Given the description of an element on the screen output the (x, y) to click on. 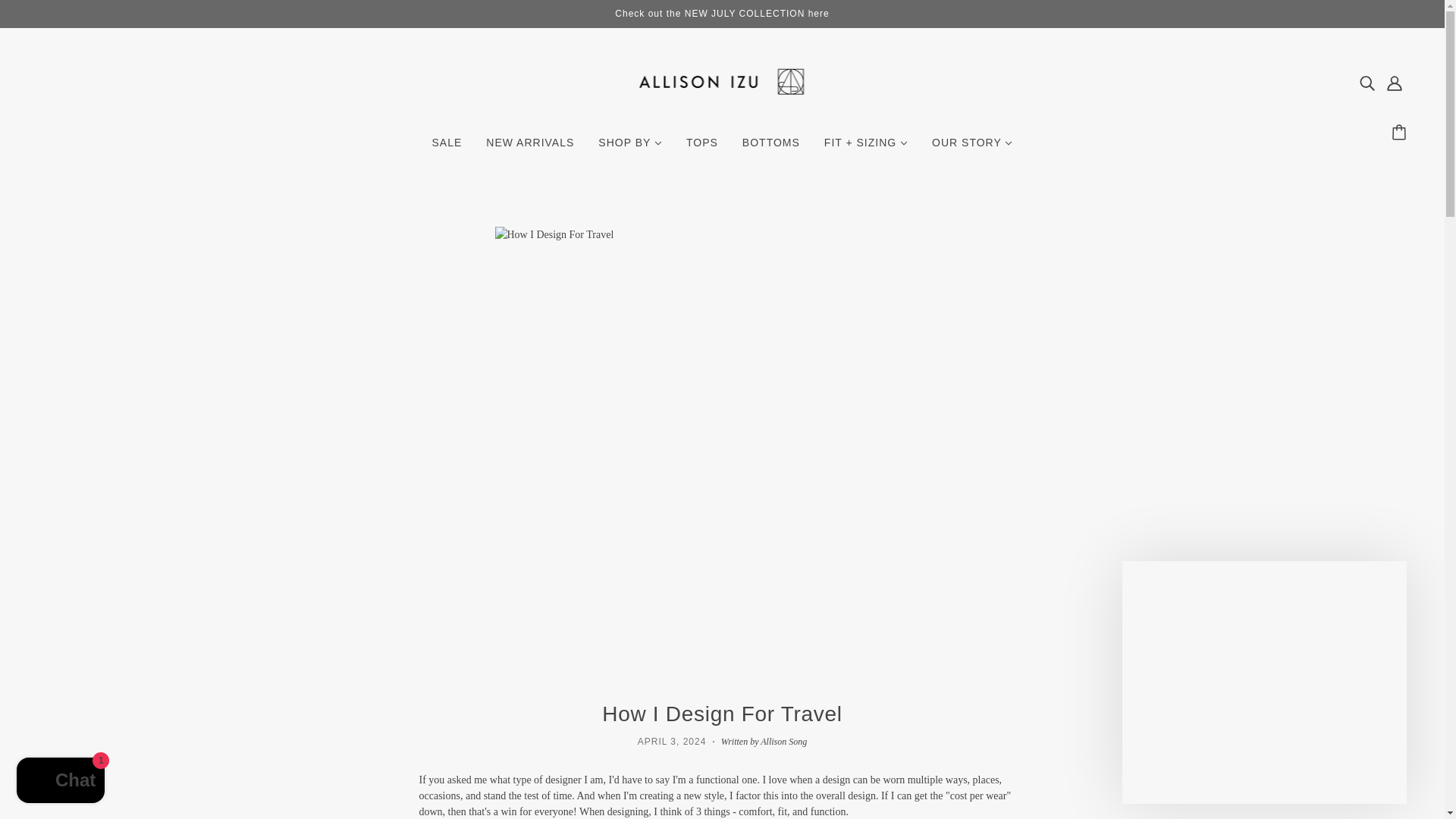
OUR STORY  (972, 148)
SHOP BY  (630, 148)
BOTTOMS (771, 148)
SALE (447, 148)
Allison Izu (721, 108)
NEW ARRIVALS (530, 148)
Smile.io Rewards Program Prompt (1264, 682)
TOPS (702, 148)
Shopify online store chat (60, 781)
